Given the description of an element on the screen output the (x, y) to click on. 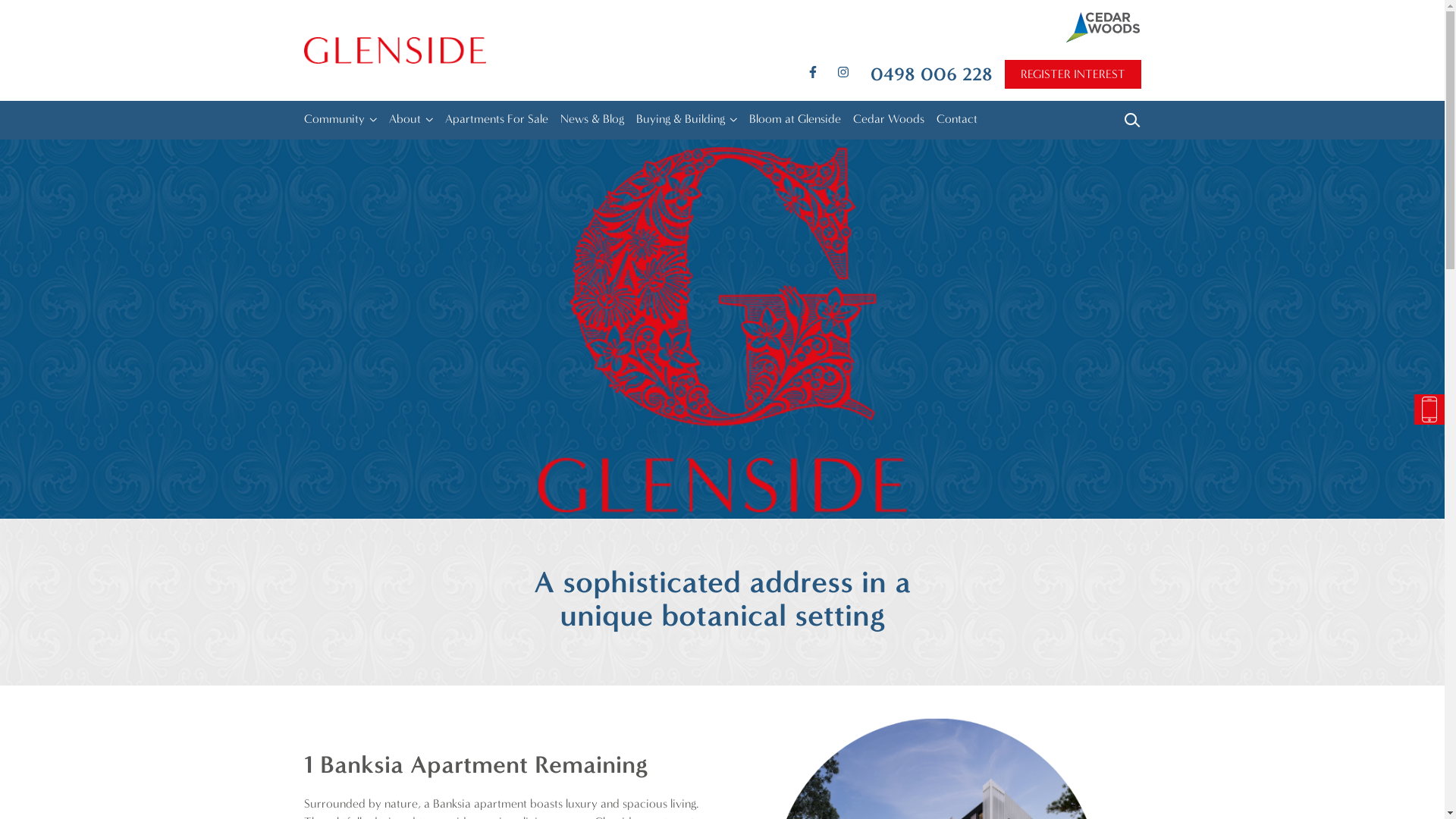
News & Blog Element type: text (591, 119)
Contact Element type: text (955, 119)
Buying & Building Element type: text (679, 119)
Bloom at Glenside Element type: text (794, 119)
About Element type: text (404, 119)
Cedar Woods Element type: text (887, 119)
Community Element type: text (333, 119)
REGISTER INTEREST Element type: text (1072, 73)
Apartments For Sale Element type: text (495, 119)
0498 006 228 Element type: text (931, 73)
